Given the description of an element on the screen output the (x, y) to click on. 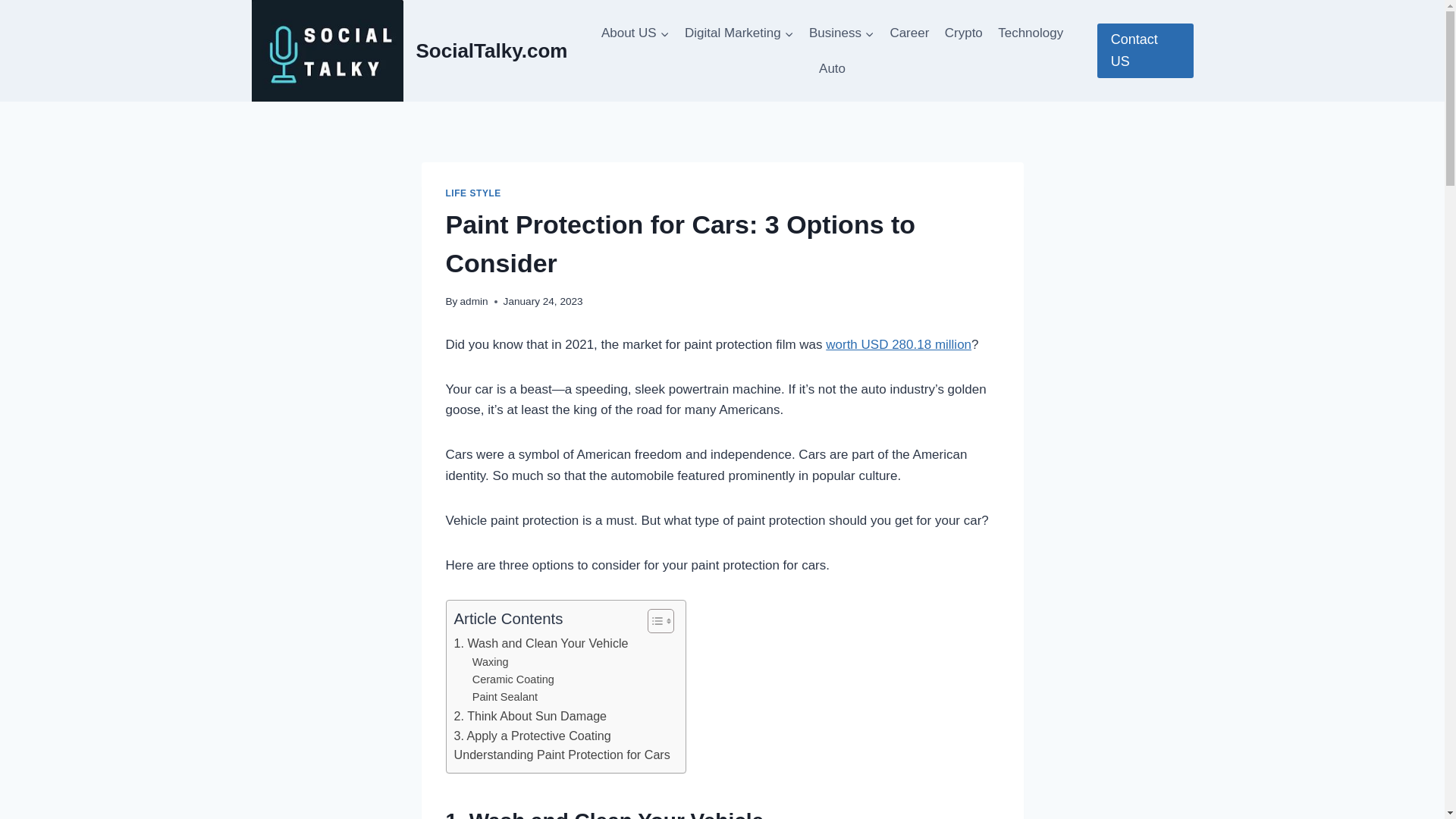
Understanding Paint Protection for Cars (560, 754)
3. Apply a Protective Coating (531, 736)
Contact US (1145, 50)
Ceramic Coating (512, 679)
Digital Marketing (739, 33)
1. Wash and Clean Your Vehicle (539, 643)
Ceramic Coating (512, 679)
2. Think About Sun Damage (529, 716)
SocialTalky.com (409, 50)
Auto (831, 68)
